Given the description of an element on the screen output the (x, y) to click on. 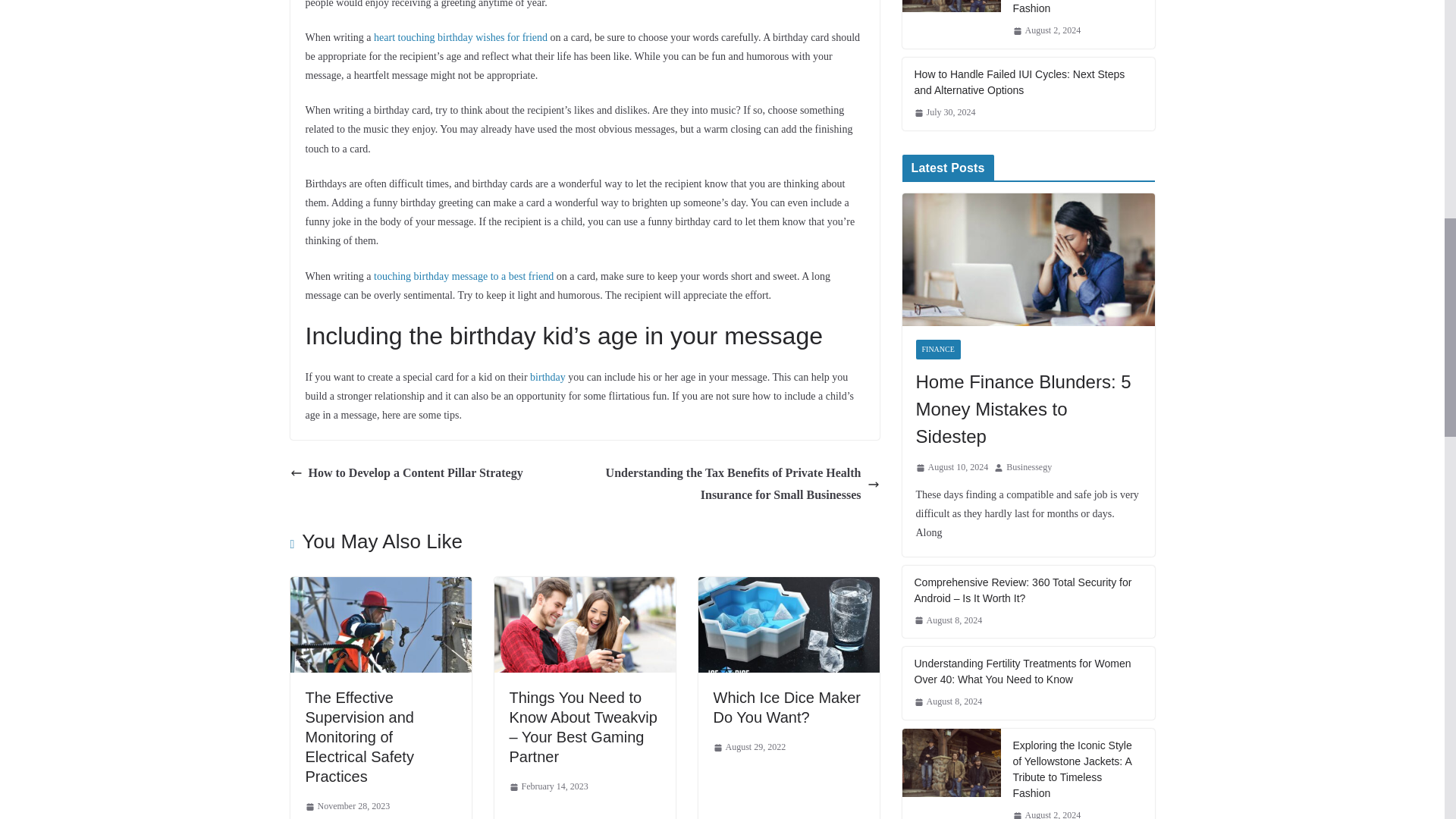
touching birthday message to a best friend (463, 276)
birthday (547, 377)
8:38 am (347, 806)
10:08 am (548, 786)
Which Ice Dice Maker Do You Want? (788, 586)
How to Develop a Content Pillar Strategy (405, 473)
heart touching birthday wishes for friend (460, 37)
